Given the description of an element on the screen output the (x, y) to click on. 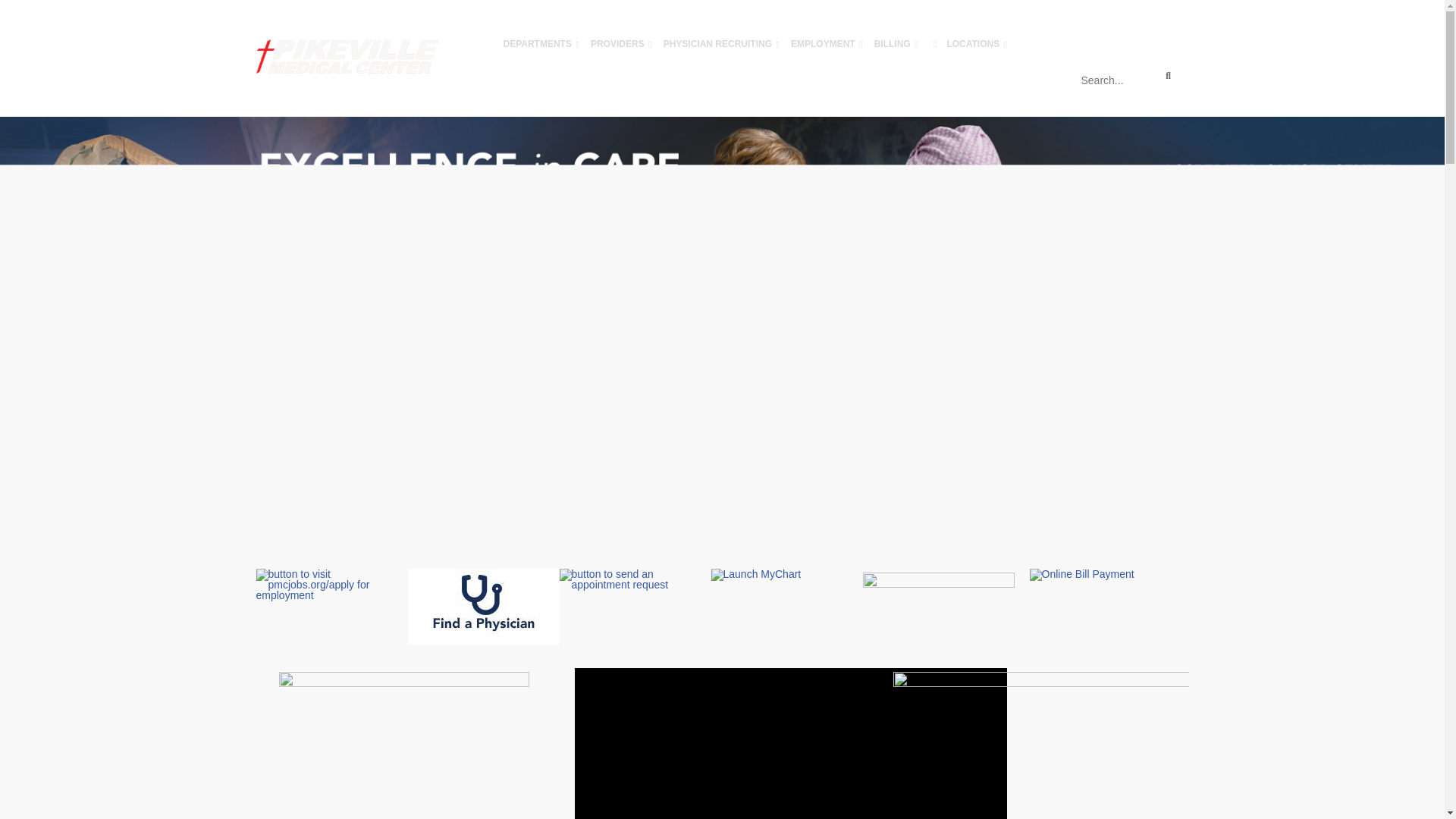
HOME (475, 44)
